Given the description of an element on the screen output the (x, y) to click on. 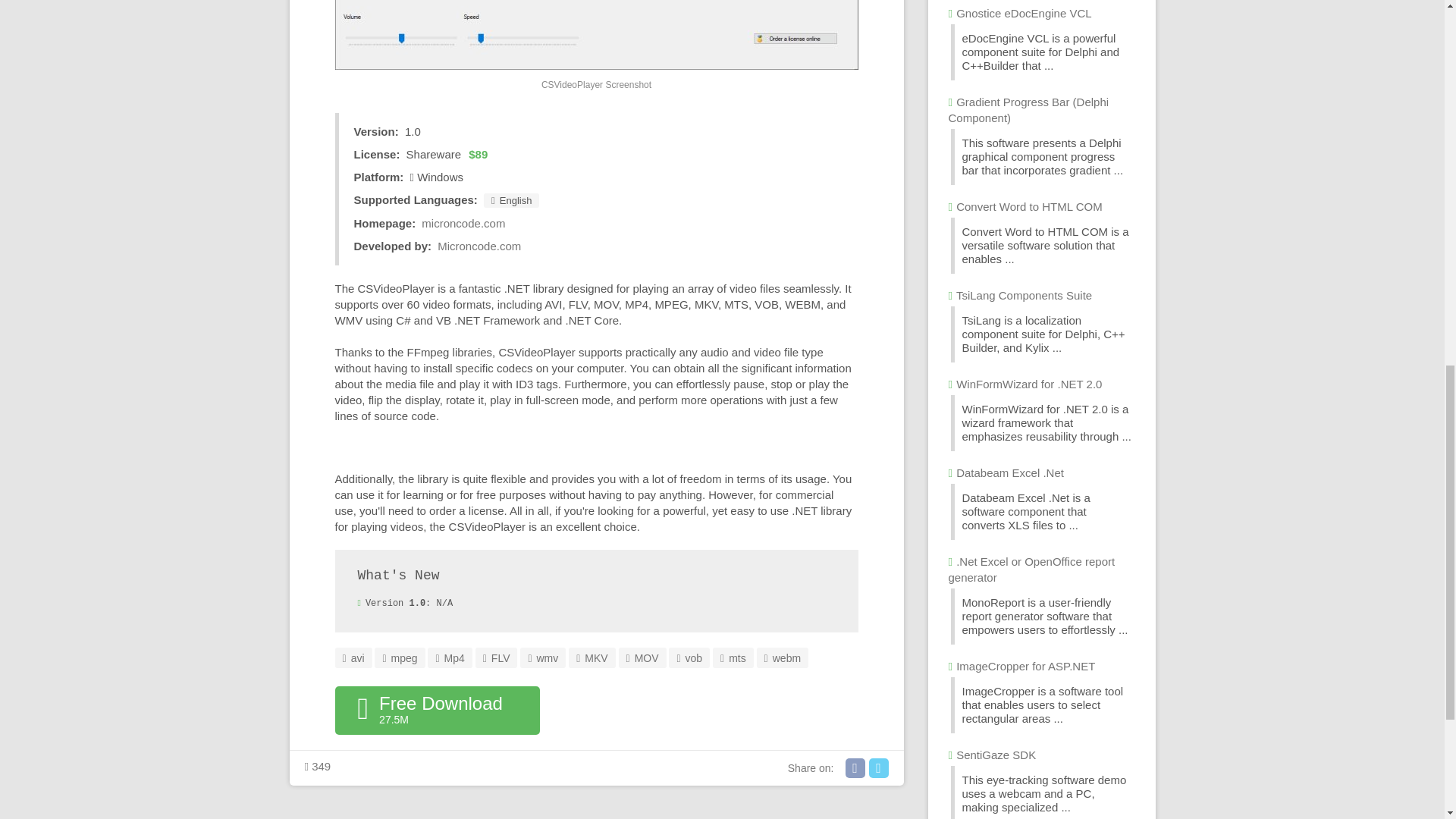
CSVideoPlayer (596, 34)
Download CSVideoPlayer 1.0 (437, 710)
